Given the description of an element on the screen output the (x, y) to click on. 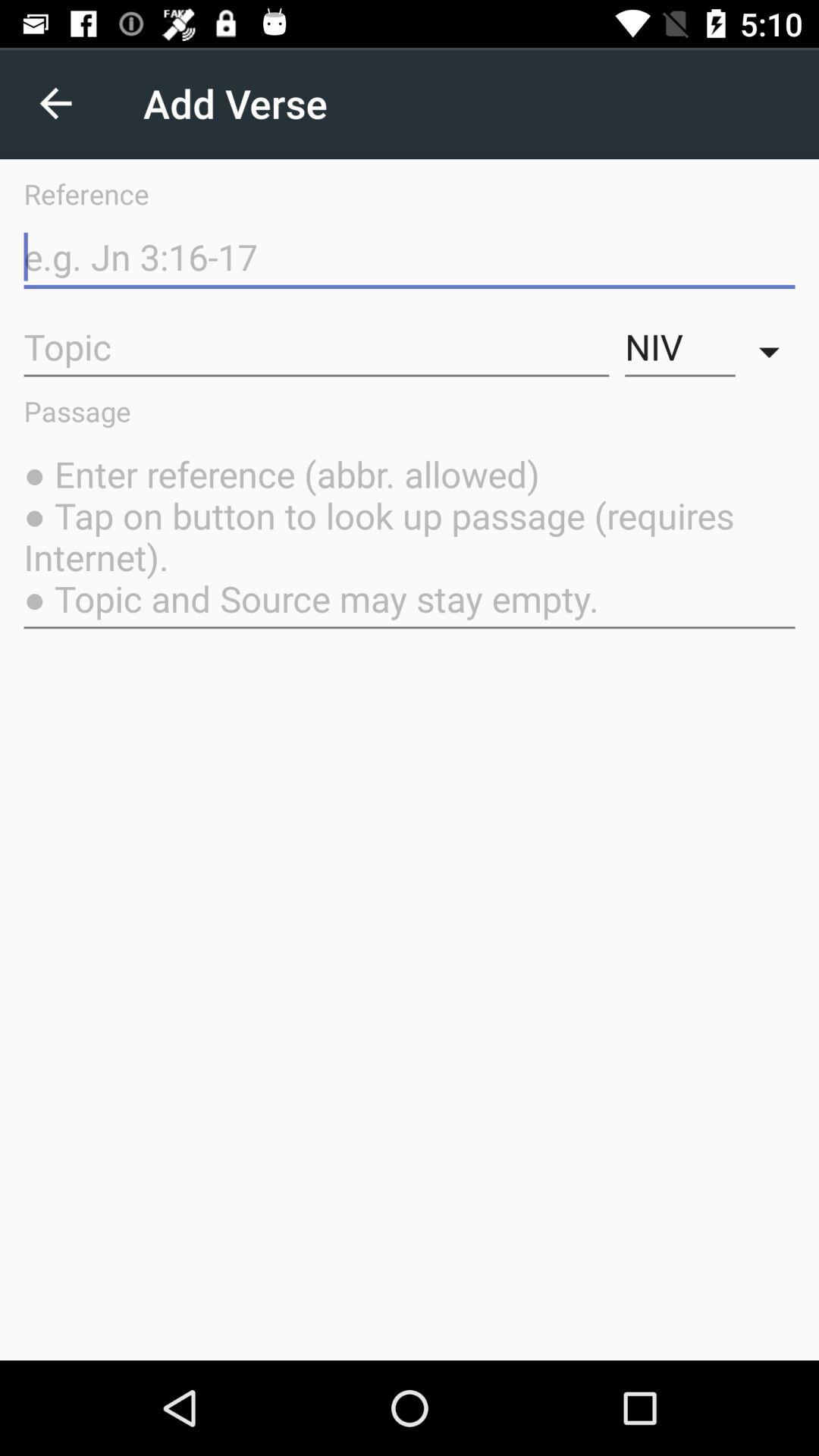
choose item to the right of niv (773, 347)
